Given the description of an element on the screen output the (x, y) to click on. 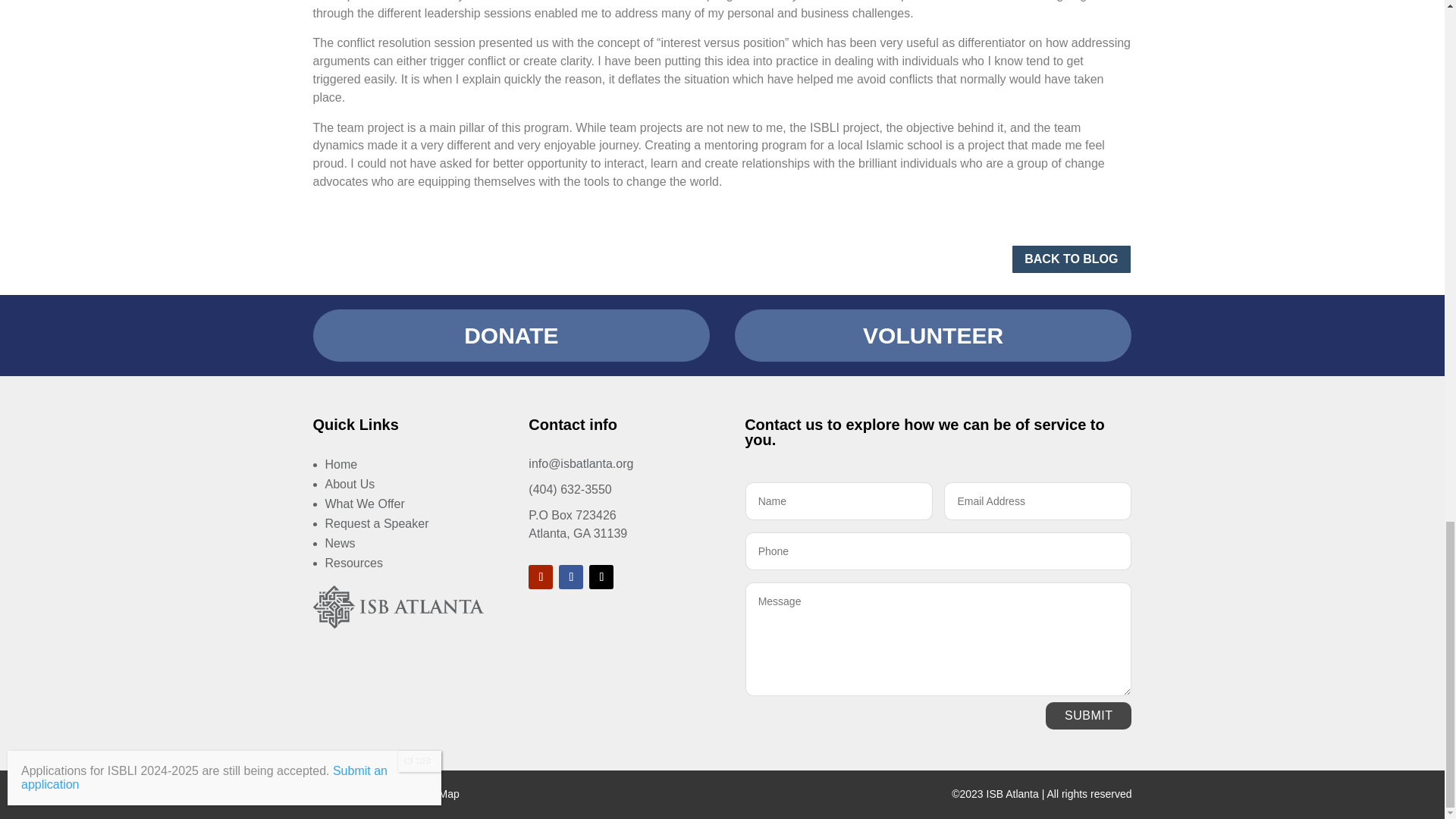
logo2 (398, 606)
Follow on Youtube (540, 576)
Follow on X (600, 576)
Follow on Facebook (571, 576)
